Given the description of an element on the screen output the (x, y) to click on. 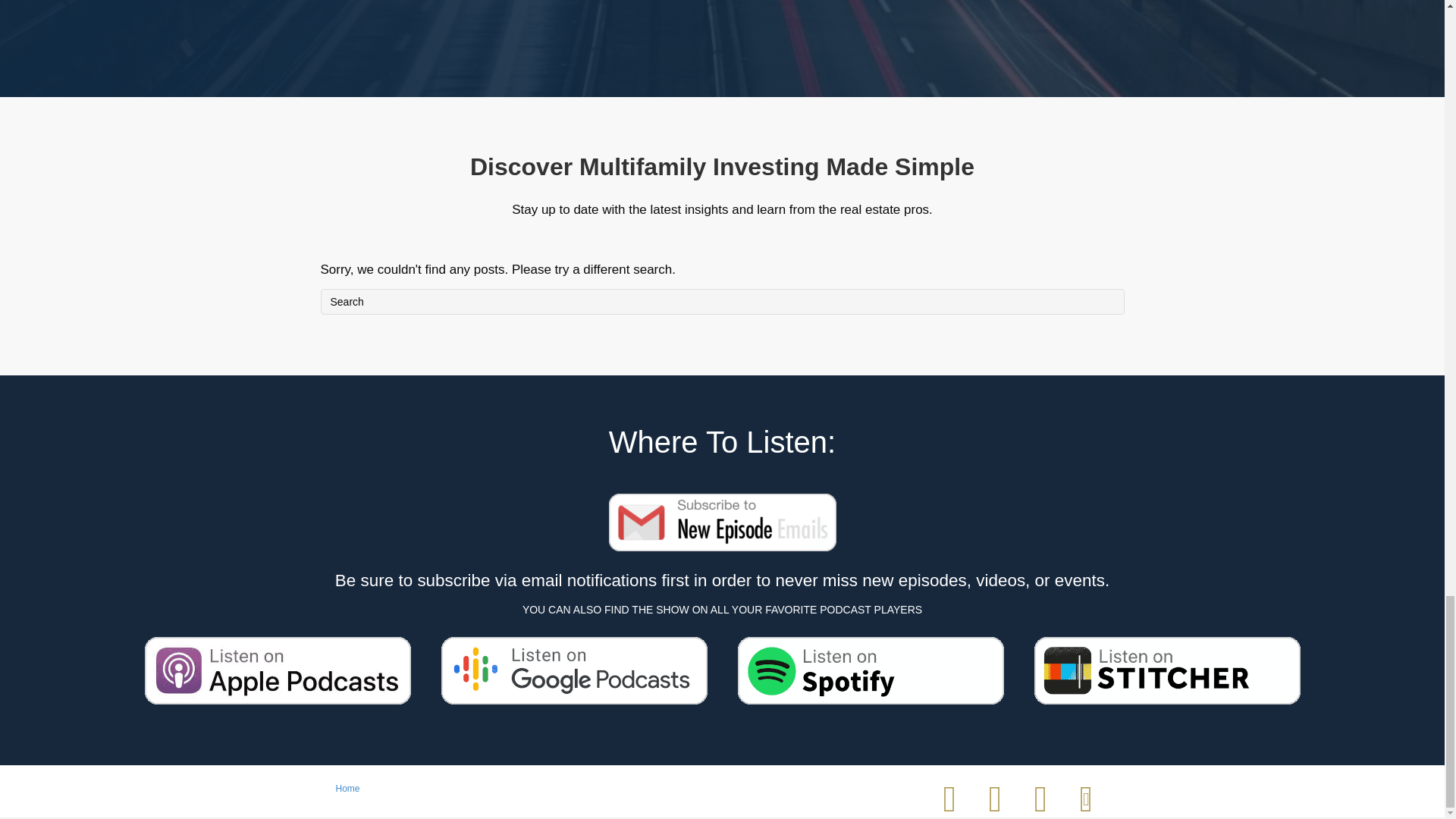
Search (722, 301)
Email (1085, 799)
Facebook (949, 799)
listen on stitcher podcast (1166, 670)
Home (347, 794)
Podcast-Buttons-Email (721, 522)
Linkedin (994, 799)
listen on spotify podcast (869, 670)
Search (722, 301)
Youtube (1039, 799)
listen on google podcasts (574, 670)
Type and press Enter to search. (722, 301)
listen on apple podcast (277, 670)
